Given the description of an element on the screen output the (x, y) to click on. 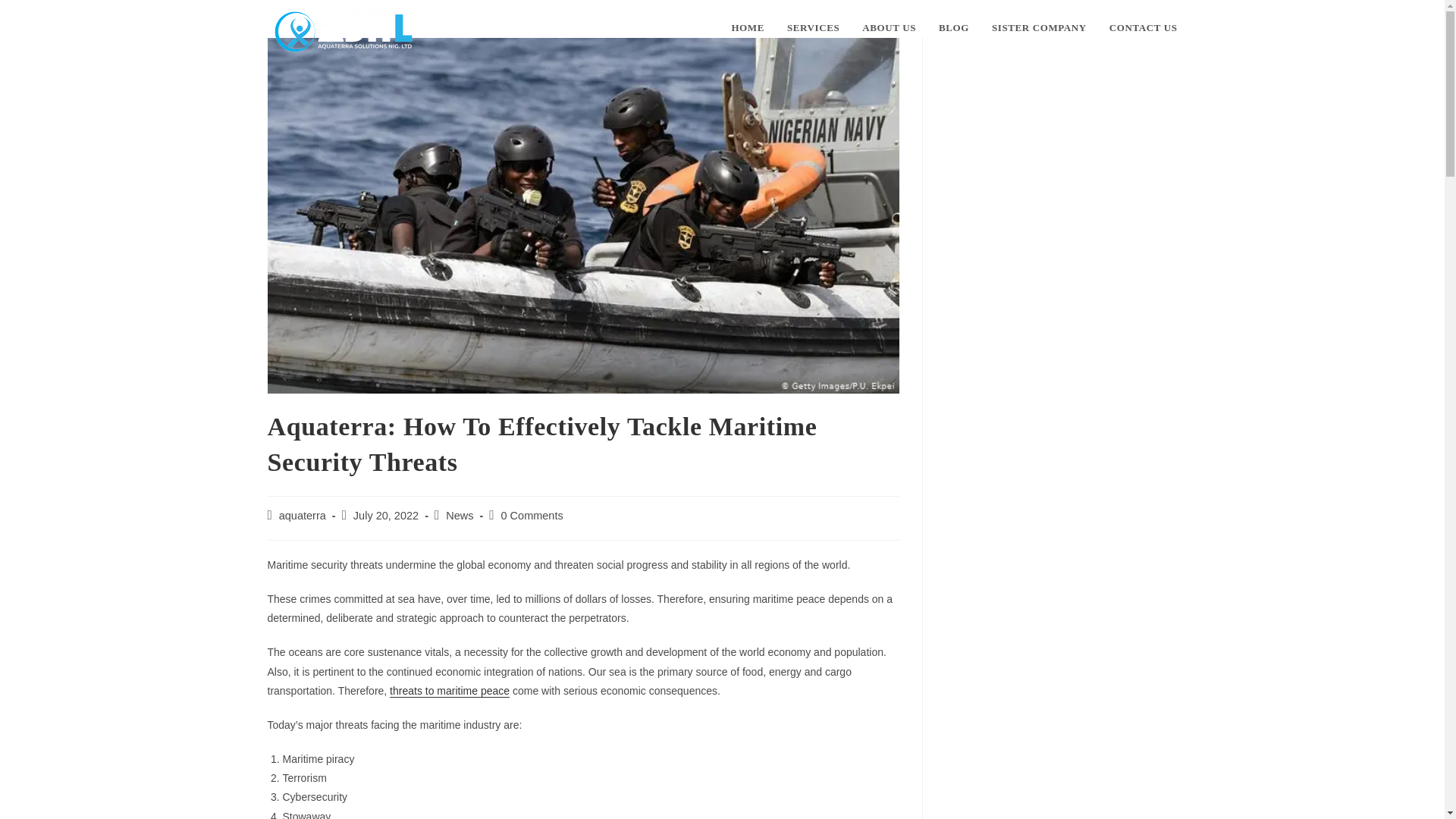
SISTER COMPANY (1038, 28)
Posts by aquaterra (302, 515)
BLOG (953, 28)
SERVICES (813, 28)
News (459, 515)
0 Comments (531, 515)
aquaterra (302, 515)
HOME (747, 28)
threats to maritime peace (449, 690)
ABOUT US (888, 28)
